Given the description of an element on the screen output the (x, y) to click on. 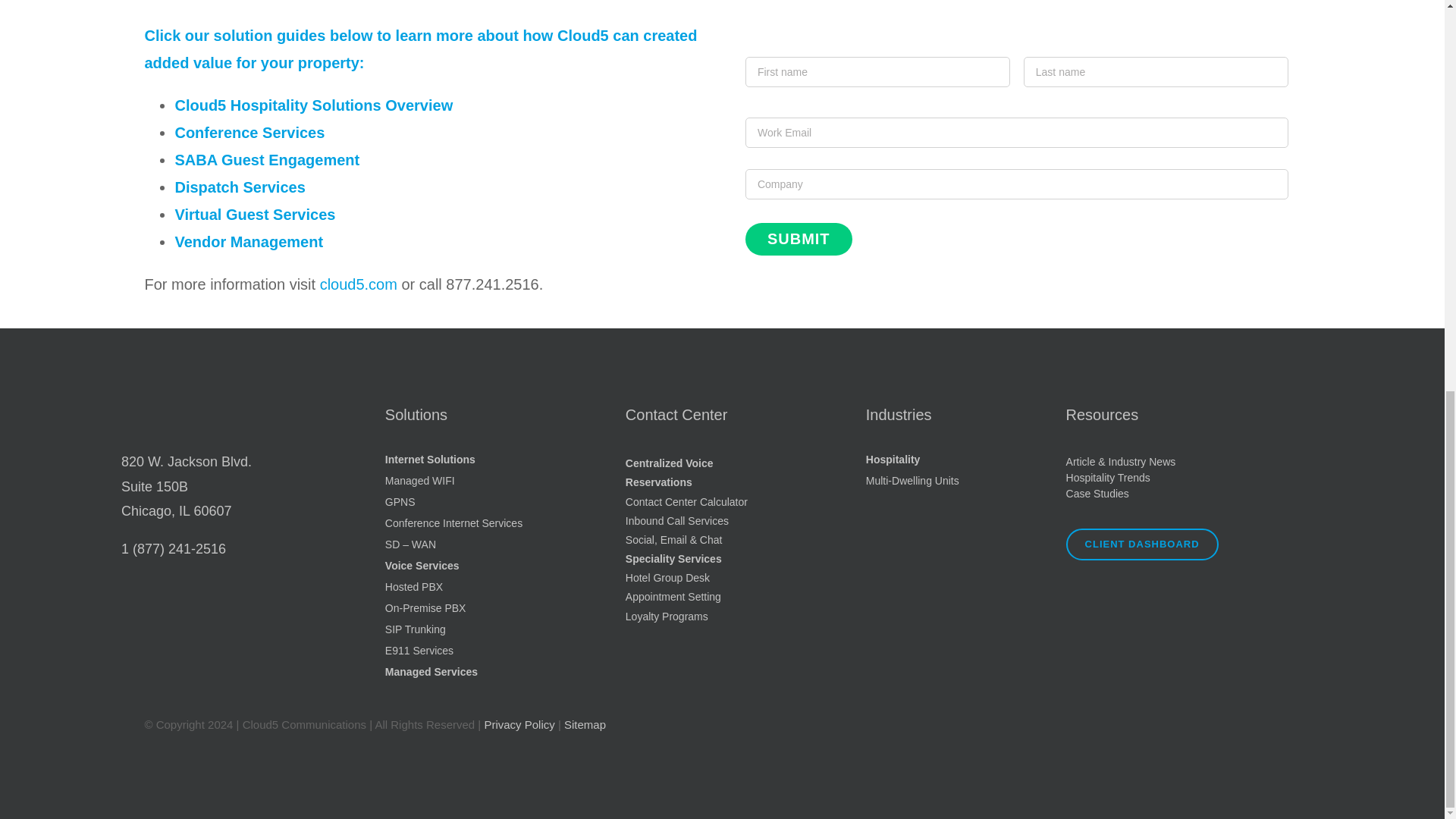
Submit (798, 238)
Virtual Guest Services (254, 214)
Vendor Management (248, 241)
Cloud5 Hospitality Solutions Overview (313, 105)
Submit (798, 238)
cloud5.com (358, 284)
SABA Guest Engagement (266, 159)
Dispatch Services (239, 187)
Conference Services (249, 132)
